Given the description of an element on the screen output the (x, y) to click on. 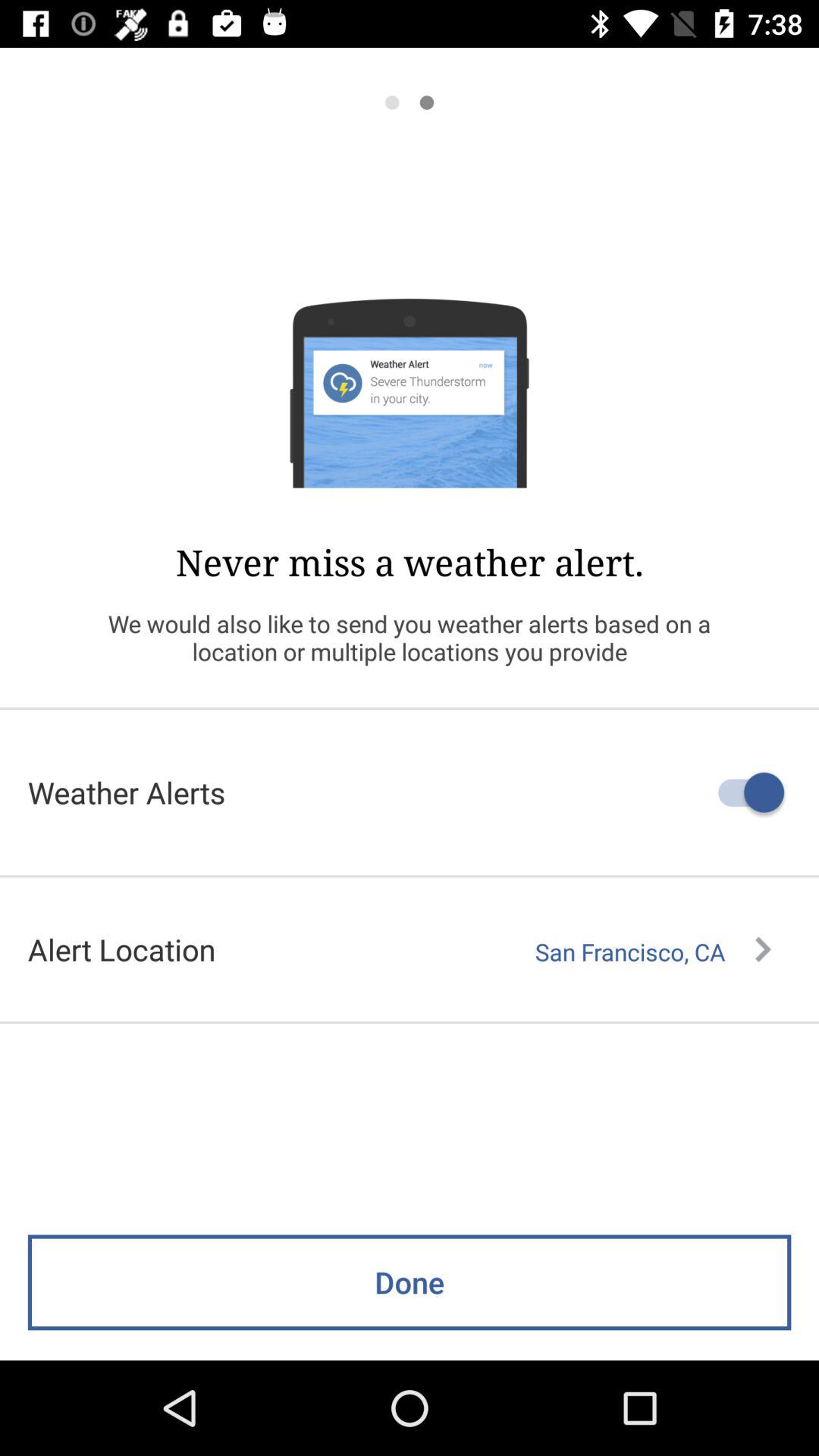
swipe until done item (409, 1282)
